Given the description of an element on the screen output the (x, y) to click on. 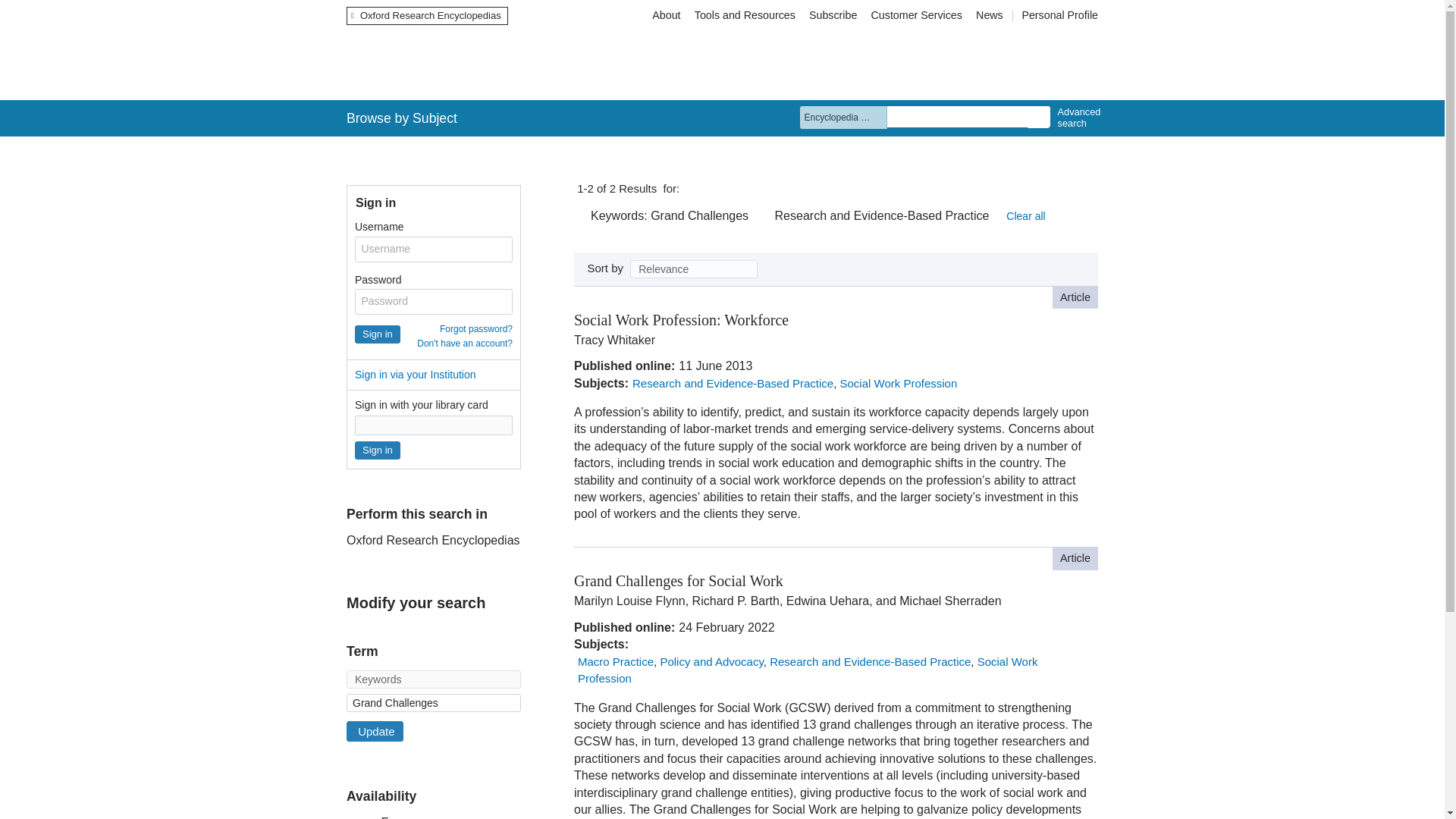
Sign in (377, 334)
restricted access (805, 317)
Search (1037, 117)
Search (1037, 117)
Encyclopedia of Social Work (532, 62)
Advanced search (1075, 117)
Forgot password? (475, 328)
Personal Profile (1059, 15)
News (991, 15)
About (665, 15)
